Given the description of an element on the screen output the (x, y) to click on. 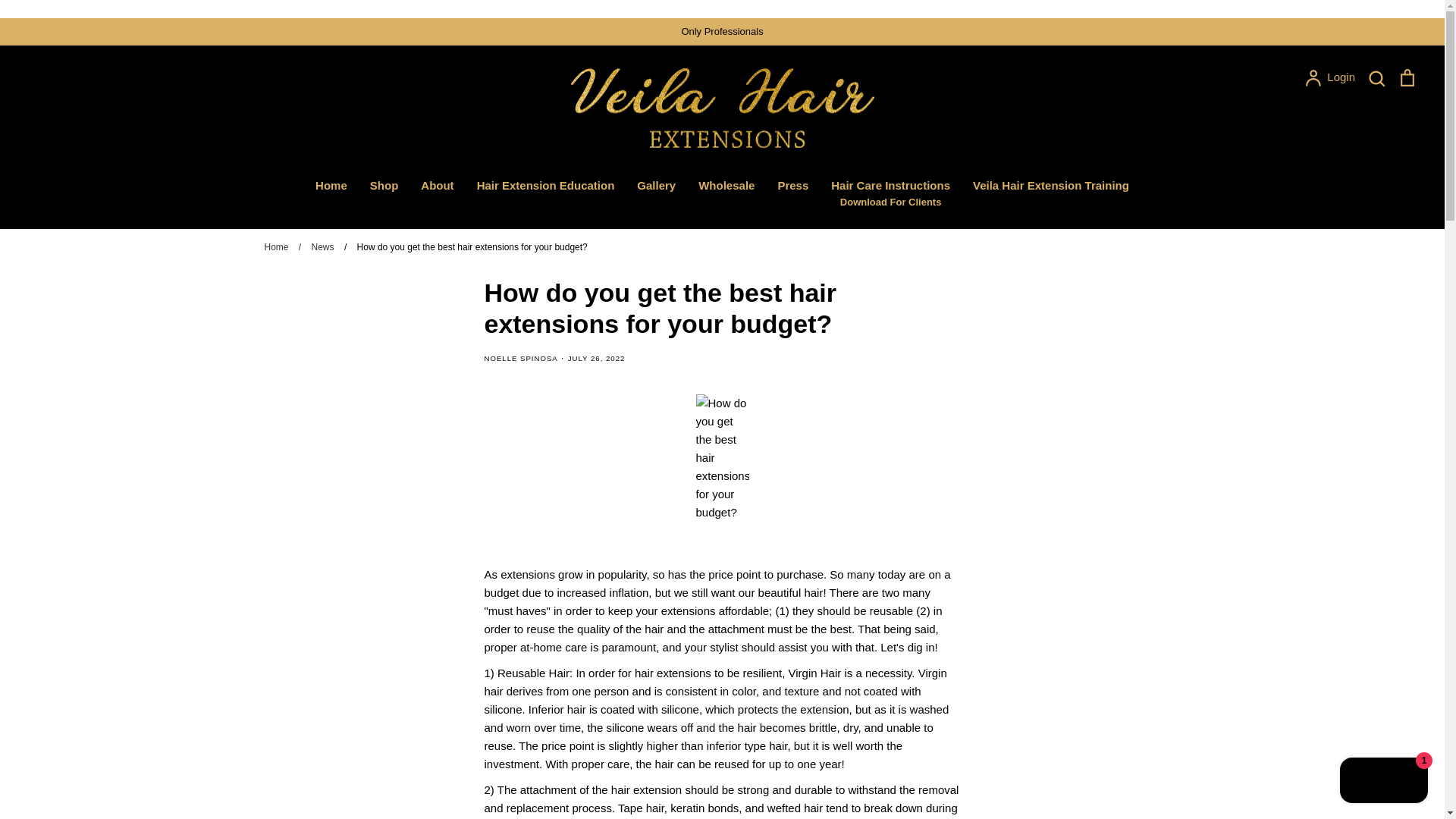
Wholesale (1329, 77)
Shopify online store chat (726, 185)
Cart (1383, 781)
Home (1406, 77)
Shop (331, 185)
Hair Extension Education (383, 185)
Gallery (545, 185)
Search (656, 185)
About (1376, 77)
